Given the description of an element on the screen output the (x, y) to click on. 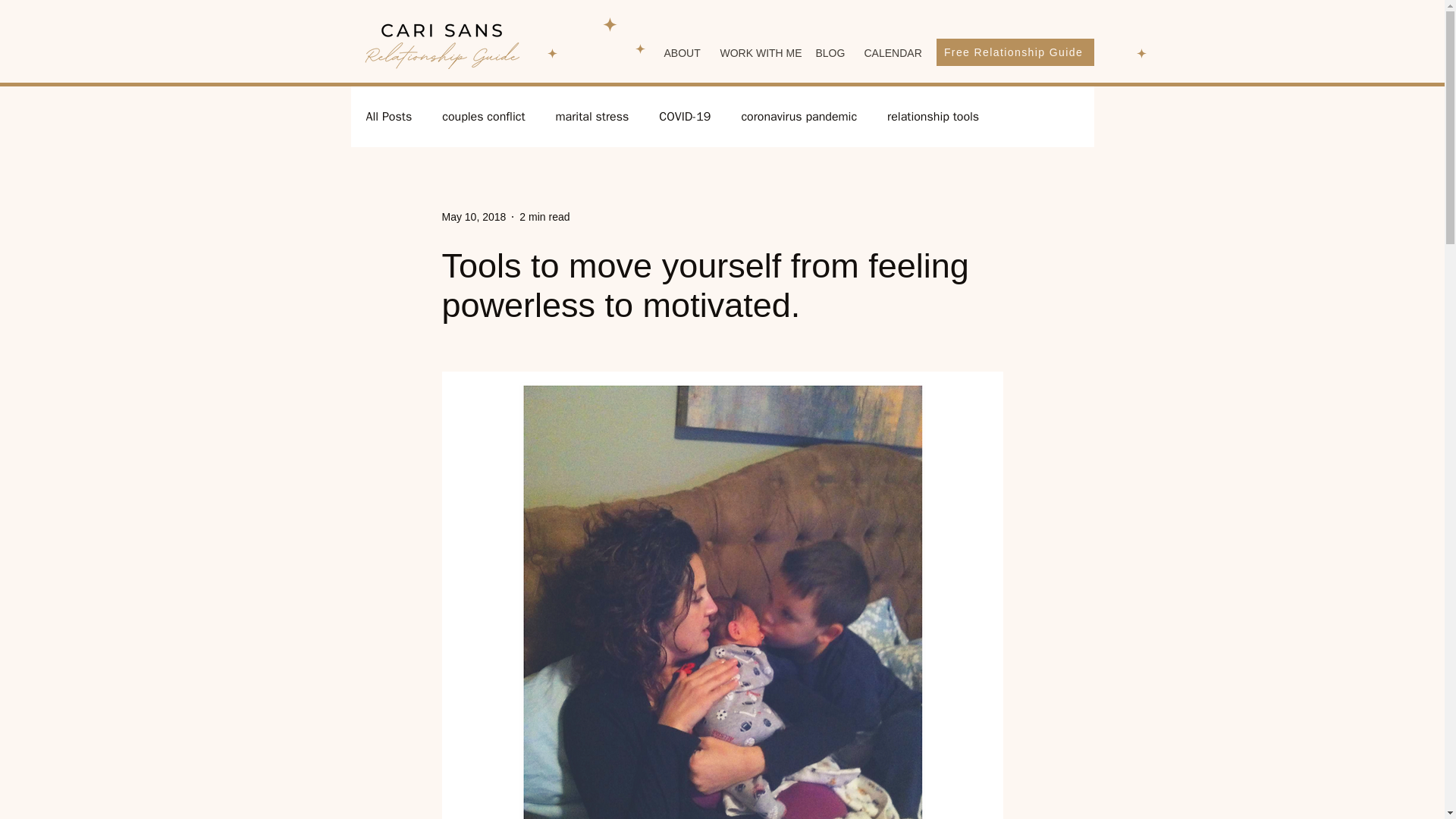
May 10, 2018 (473, 216)
All Posts (388, 116)
relationship tools (932, 116)
BLOG (827, 53)
couples conflict (483, 116)
marital stress (591, 116)
ABOUT (679, 53)
CALENDAR (889, 53)
COVID-19 (684, 116)
2 min read (544, 216)
Free Relationship Guide (1014, 52)
coronavirus pandemic (799, 116)
